Given the description of an element on the screen output the (x, y) to click on. 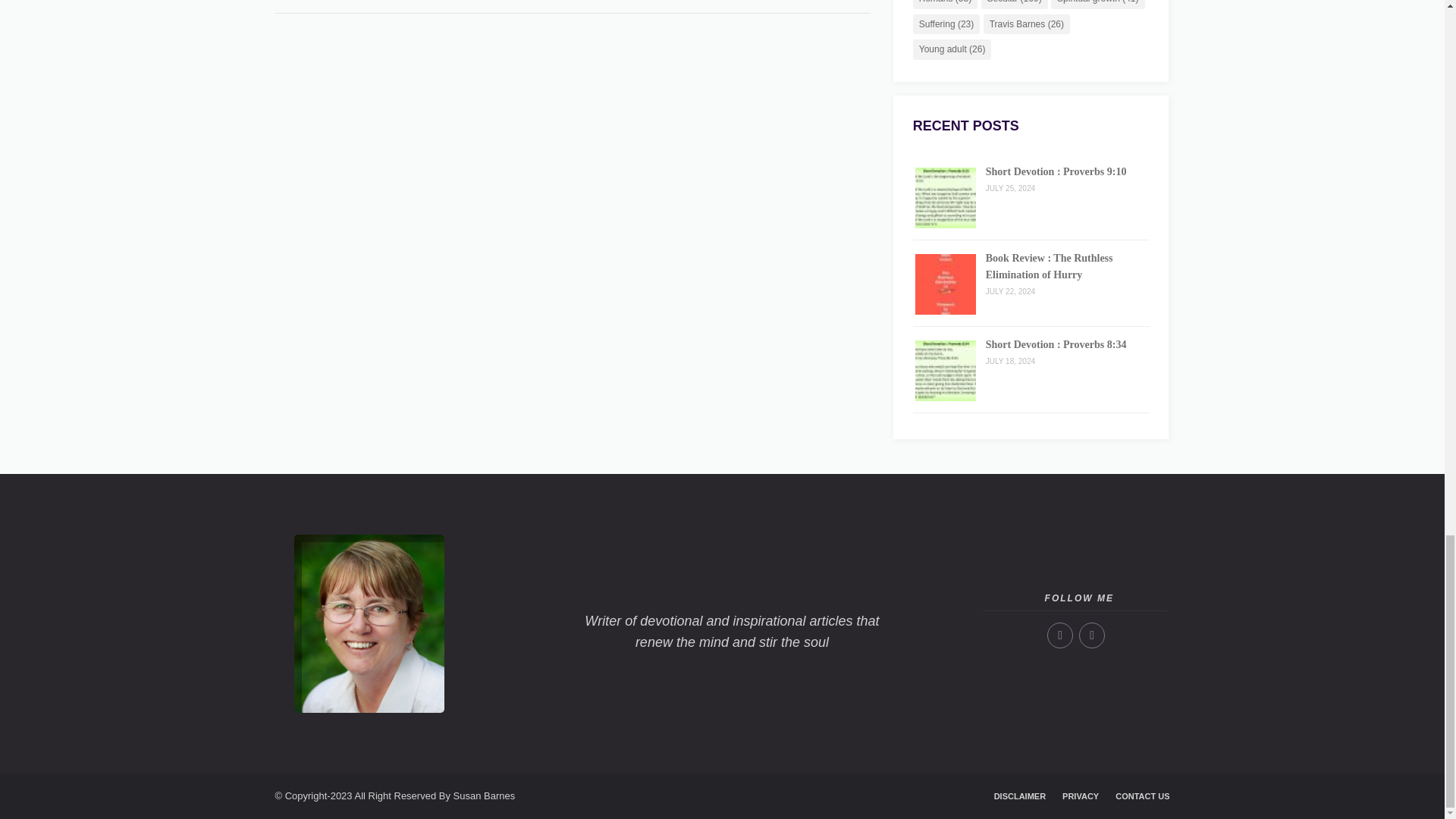
Follow on Goodreads (1091, 635)
Follow on Facebook (1059, 635)
